Given the description of an element on the screen output the (x, y) to click on. 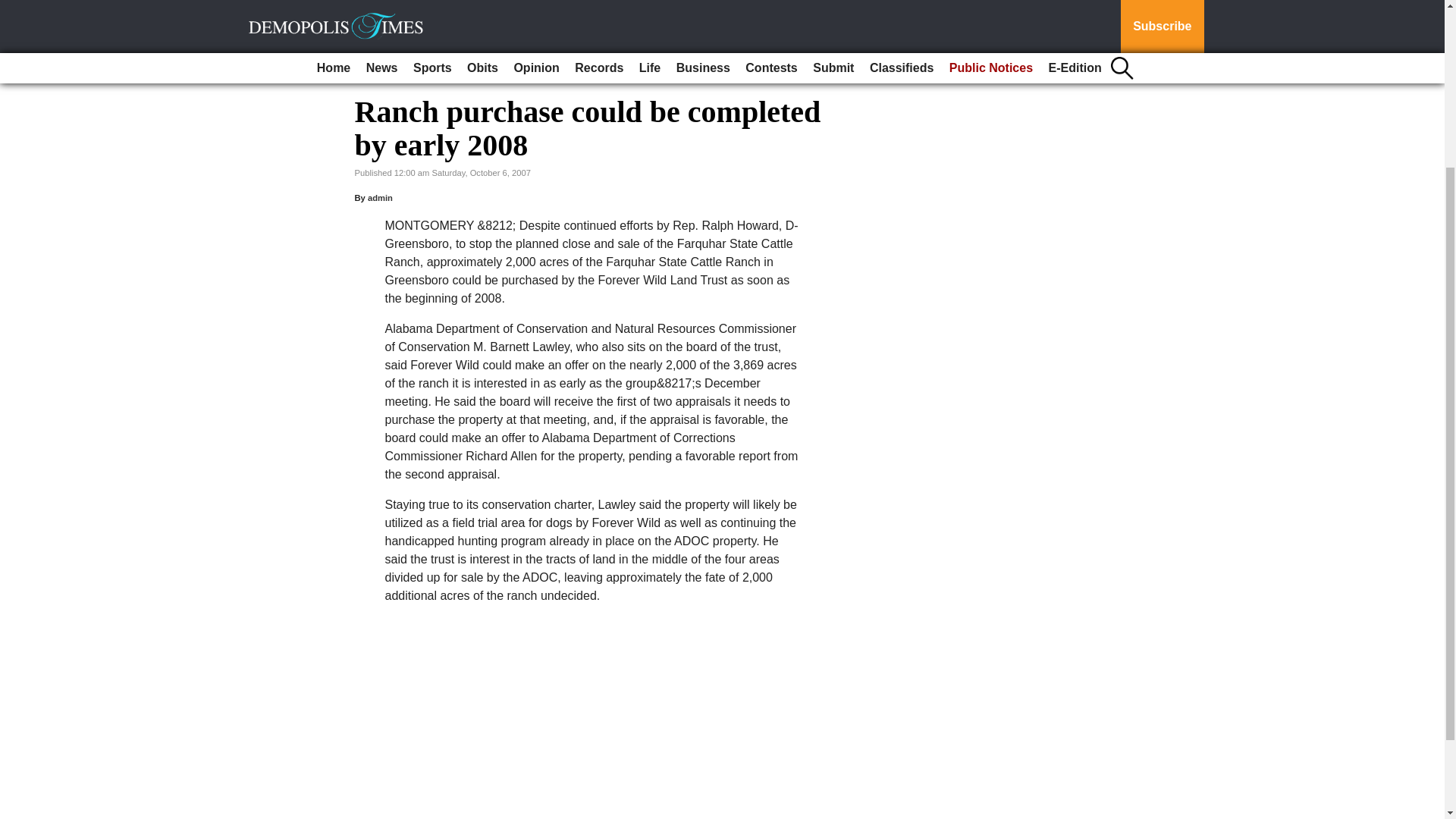
admin (380, 197)
